Given the description of an element on the screen output the (x, y) to click on. 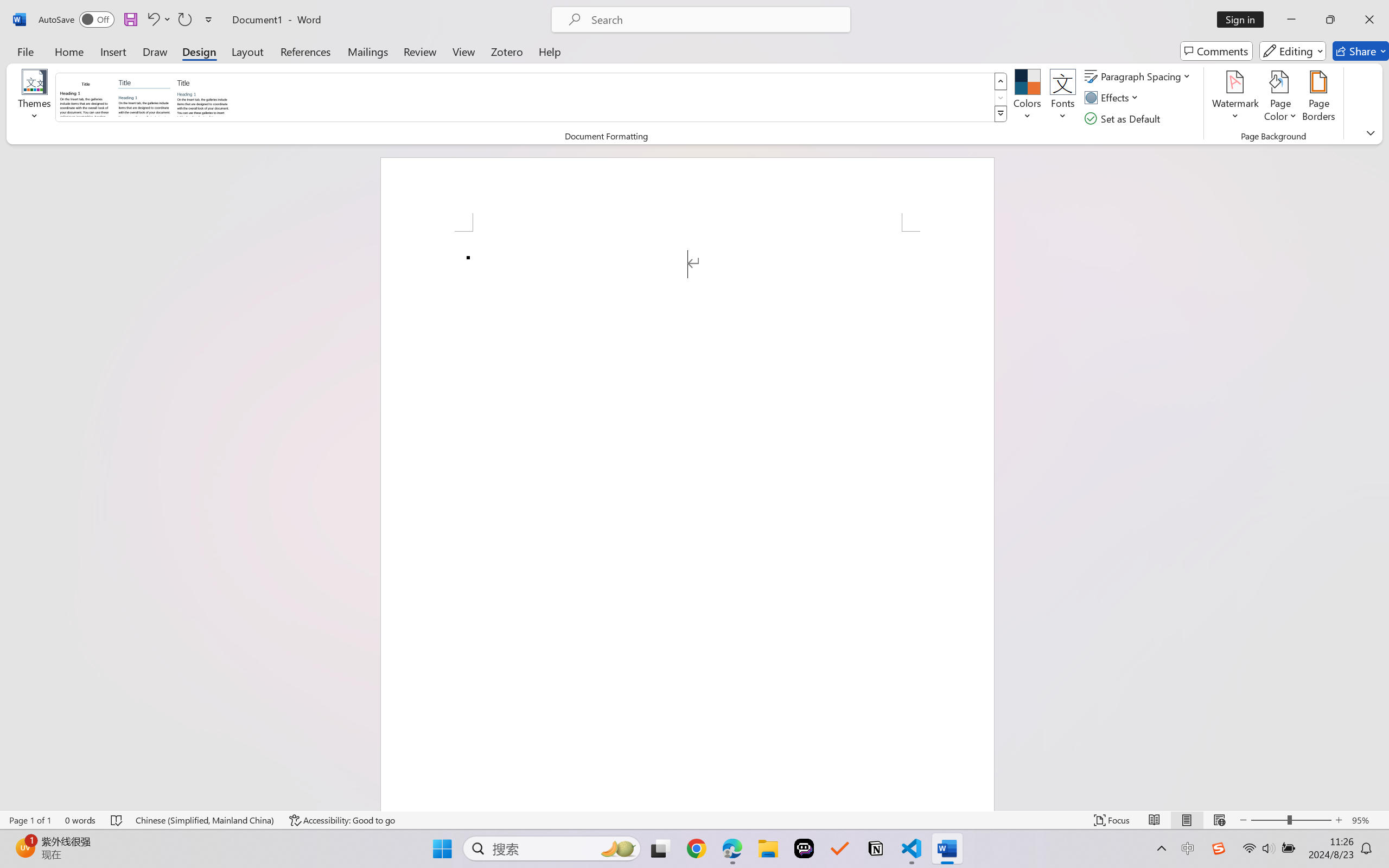
Effects (1113, 97)
Word 2010 (144, 96)
Page Color (1280, 97)
